Given the description of an element on the screen output the (x, y) to click on. 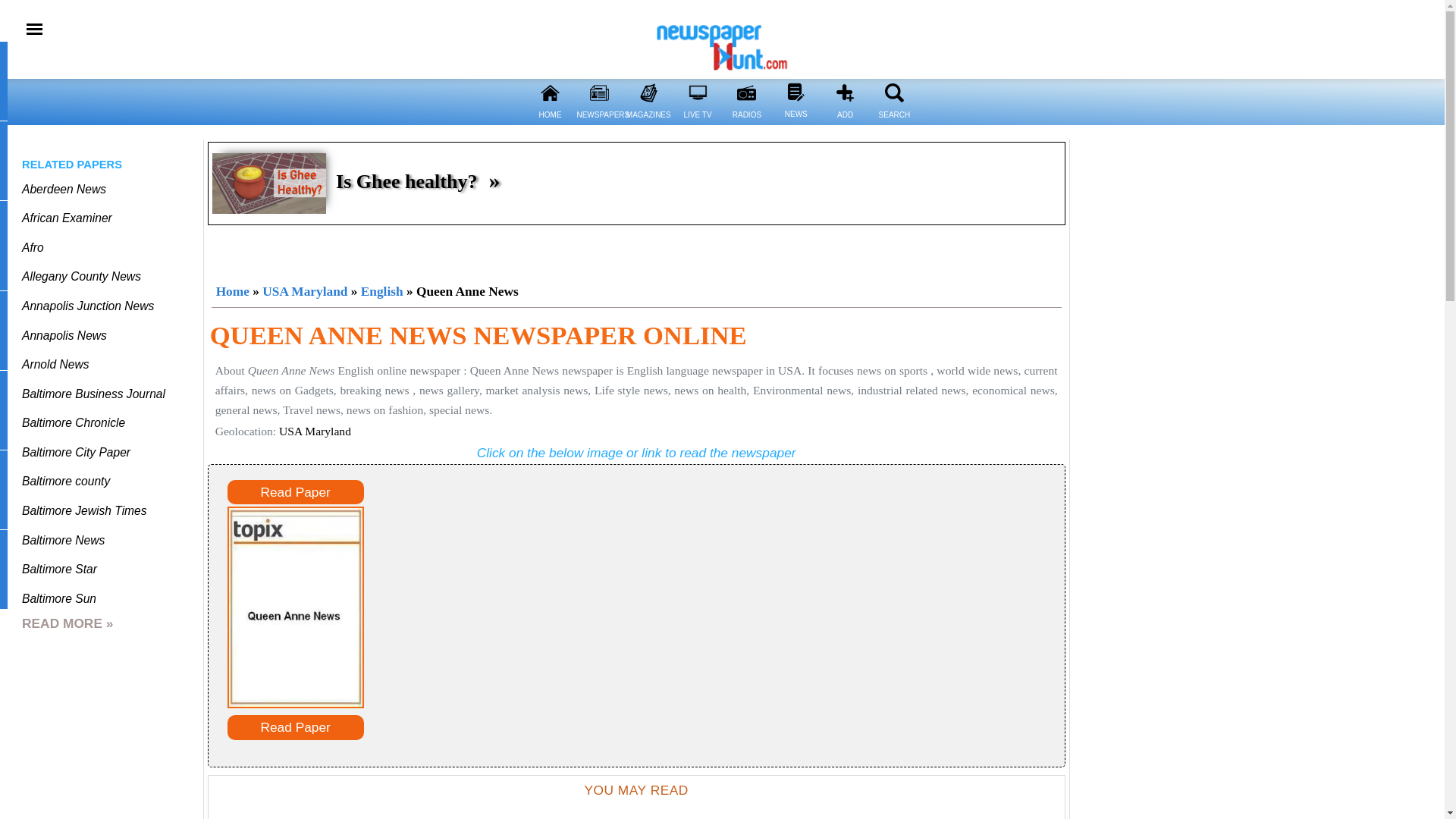
Baltimore City Paper (76, 451)
Baltimore Jewish Times (84, 510)
RADIOS (745, 92)
NEWS (795, 91)
Baltimore county (65, 481)
SEARCH (893, 124)
MAGAZINES (648, 124)
LIVE TV (697, 92)
Baltimore Chronicle (73, 422)
English Newspapers in usa-maryland (382, 291)
